Given the description of an element on the screen output the (x, y) to click on. 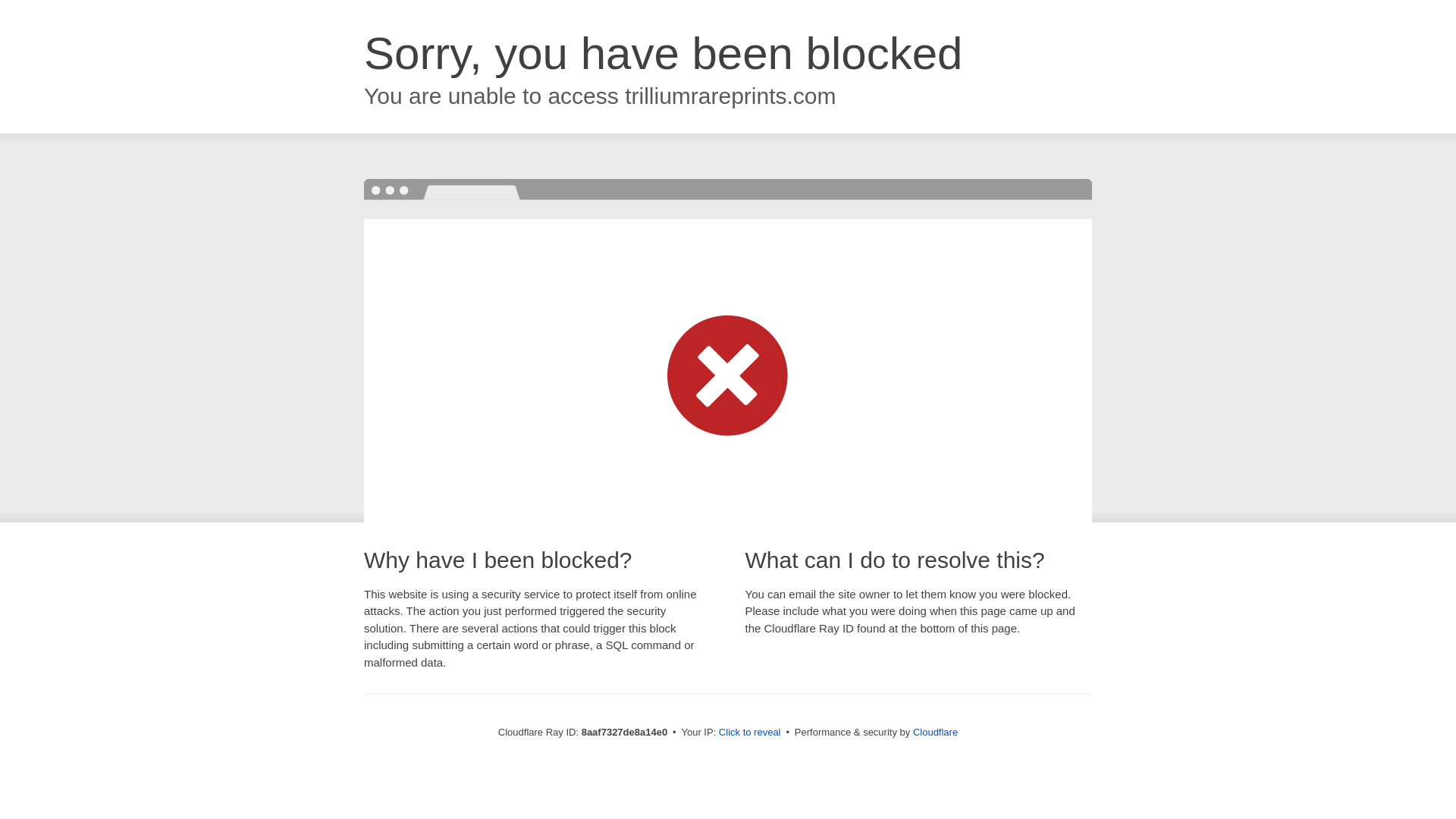
Click to reveal (749, 732)
Cloudflare (935, 731)
